Given the description of an element on the screen output the (x, y) to click on. 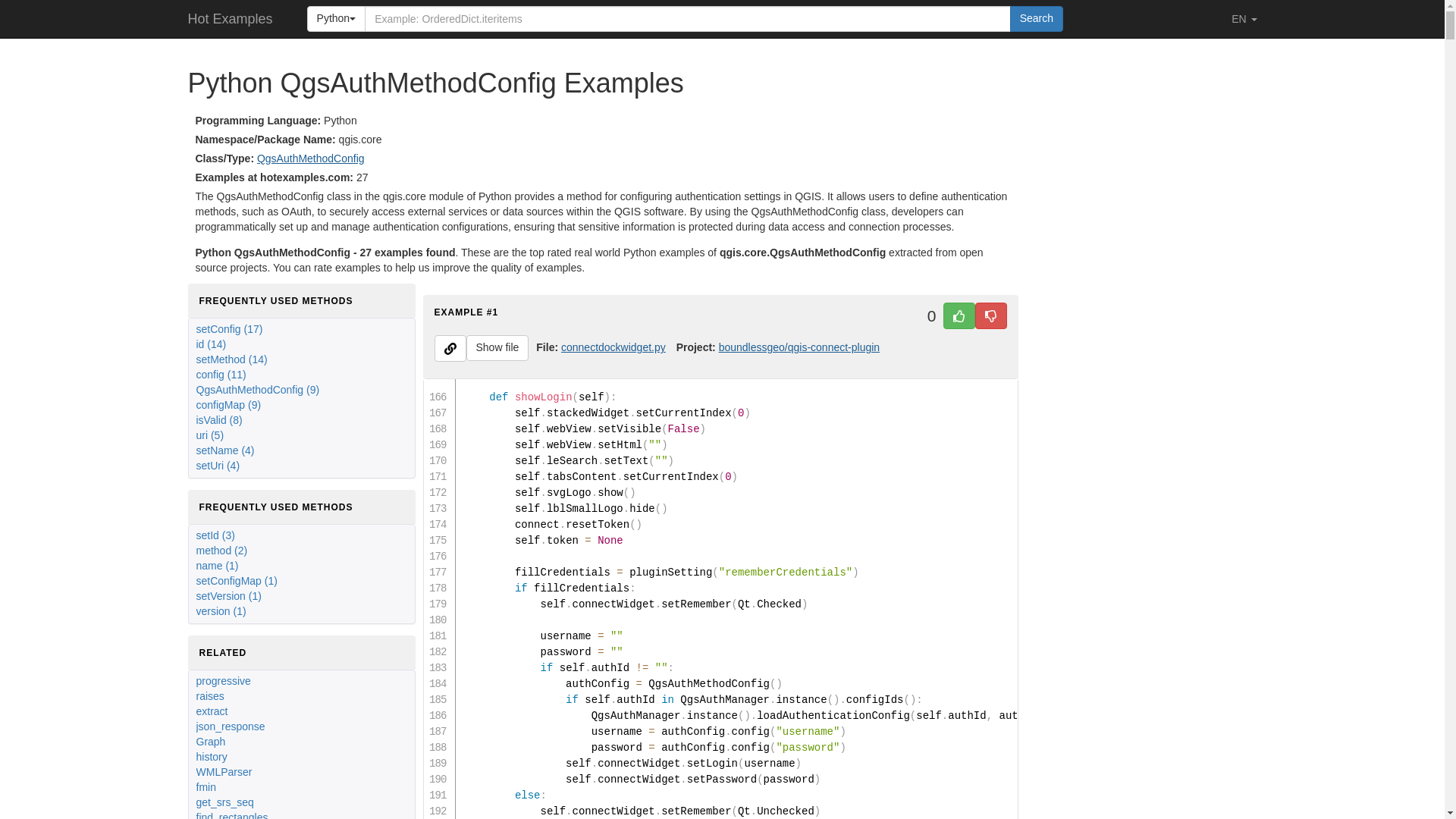
Mark this example as bad (991, 315)
Mark this example as good (959, 315)
Hot Examples (229, 18)
EN (1244, 18)
Search (1036, 18)
Python (336, 18)
Direct link to this example (449, 347)
QgsAuthMethodConfig (311, 158)
